Given the description of an element on the screen output the (x, y) to click on. 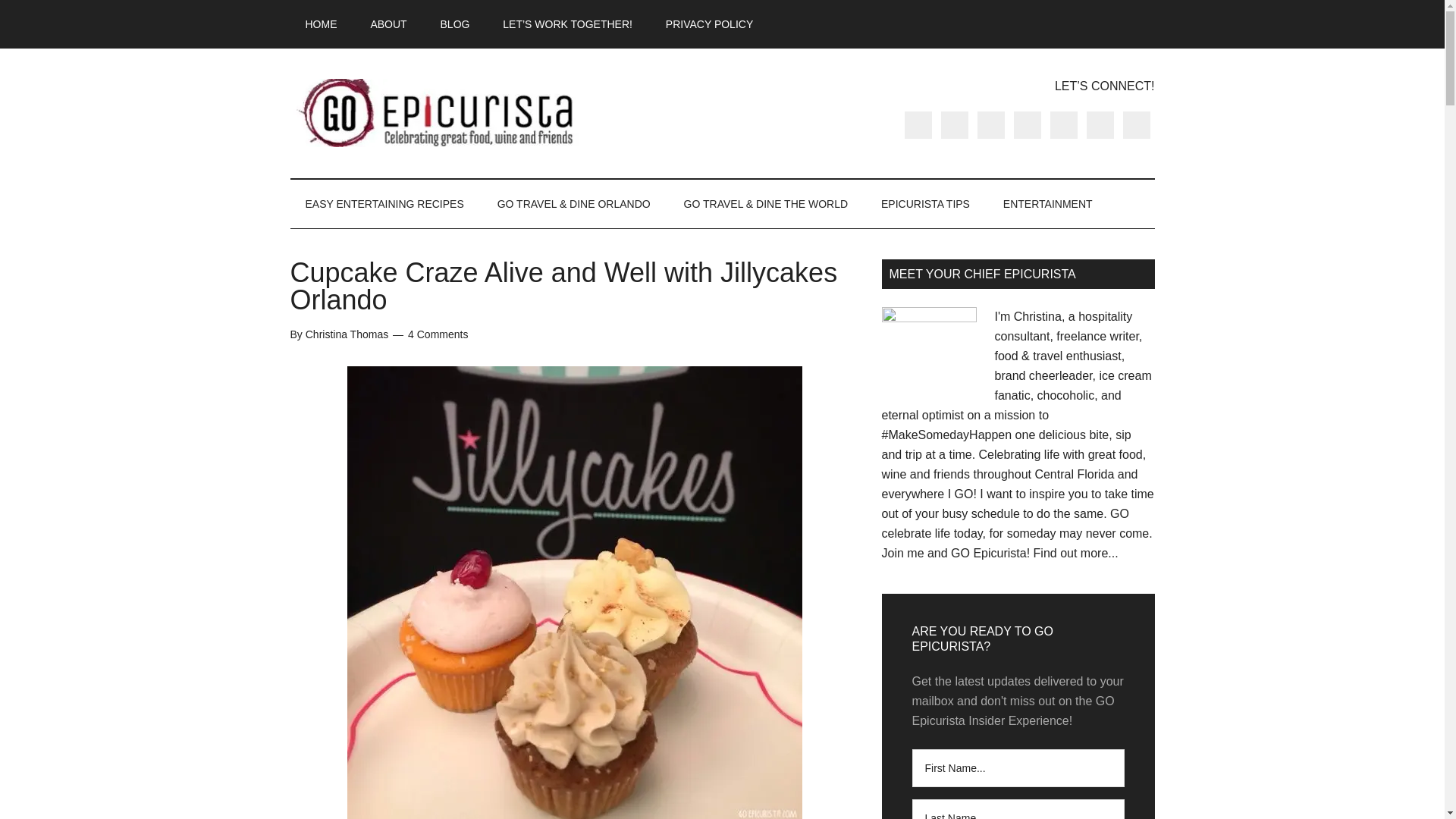
ENTERTAINMENT (1048, 203)
ABOUT (388, 24)
EASY ENTERTAINING RECIPES (384, 203)
HOME (320, 24)
Christina Thomas (346, 334)
Go Epicurista (433, 112)
4 Comments (437, 334)
EPICURISTA TIPS (925, 203)
BLOG (454, 24)
PRIVACY POLICY (709, 24)
